Given the description of an element on the screen output the (x, y) to click on. 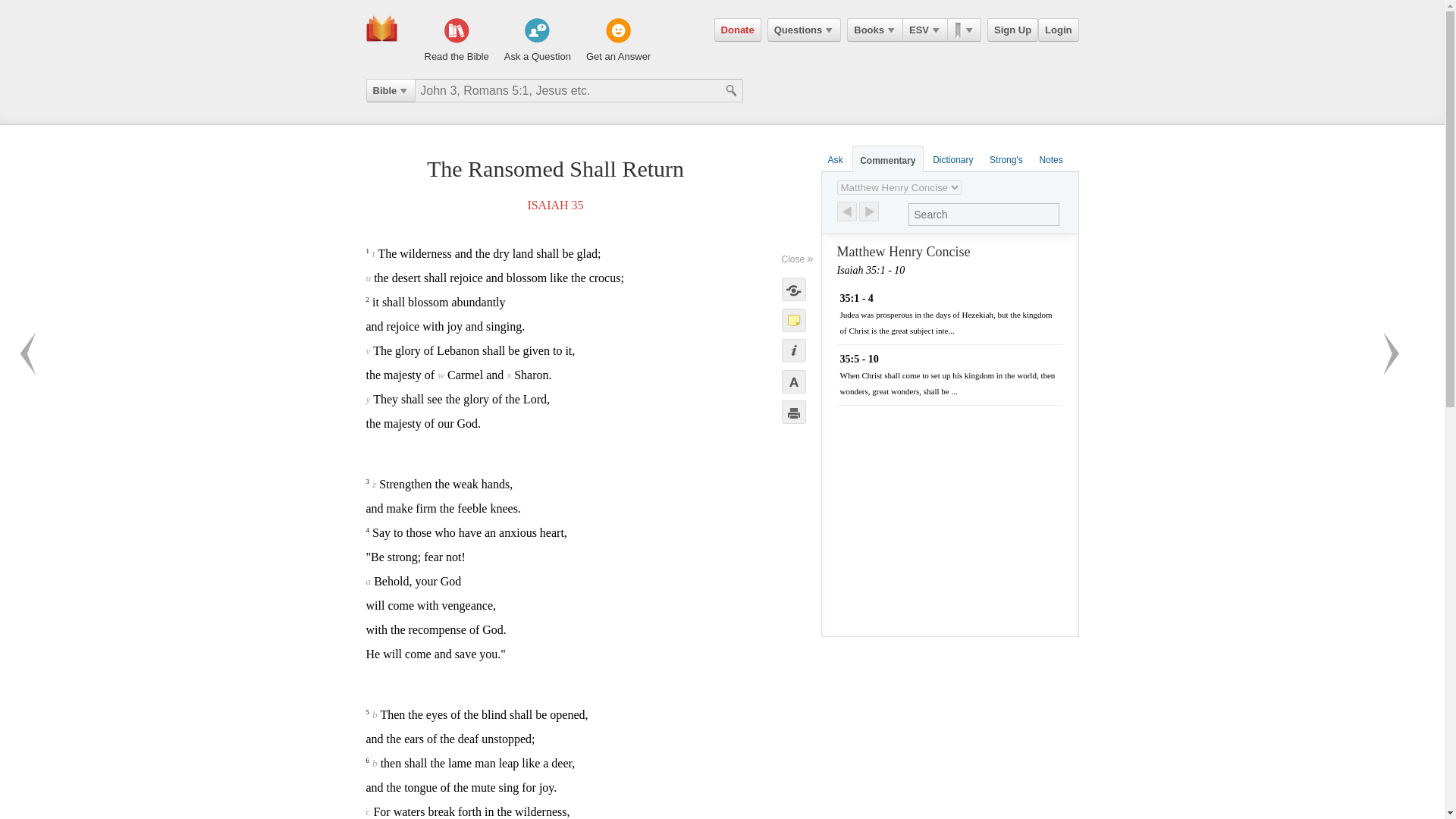
Questions (804, 29)
Get an Answer (618, 41)
Read the Bible (457, 41)
Books (874, 29)
Donate (737, 29)
Ask a Question (536, 41)
